Given the description of an element on the screen output the (x, y) to click on. 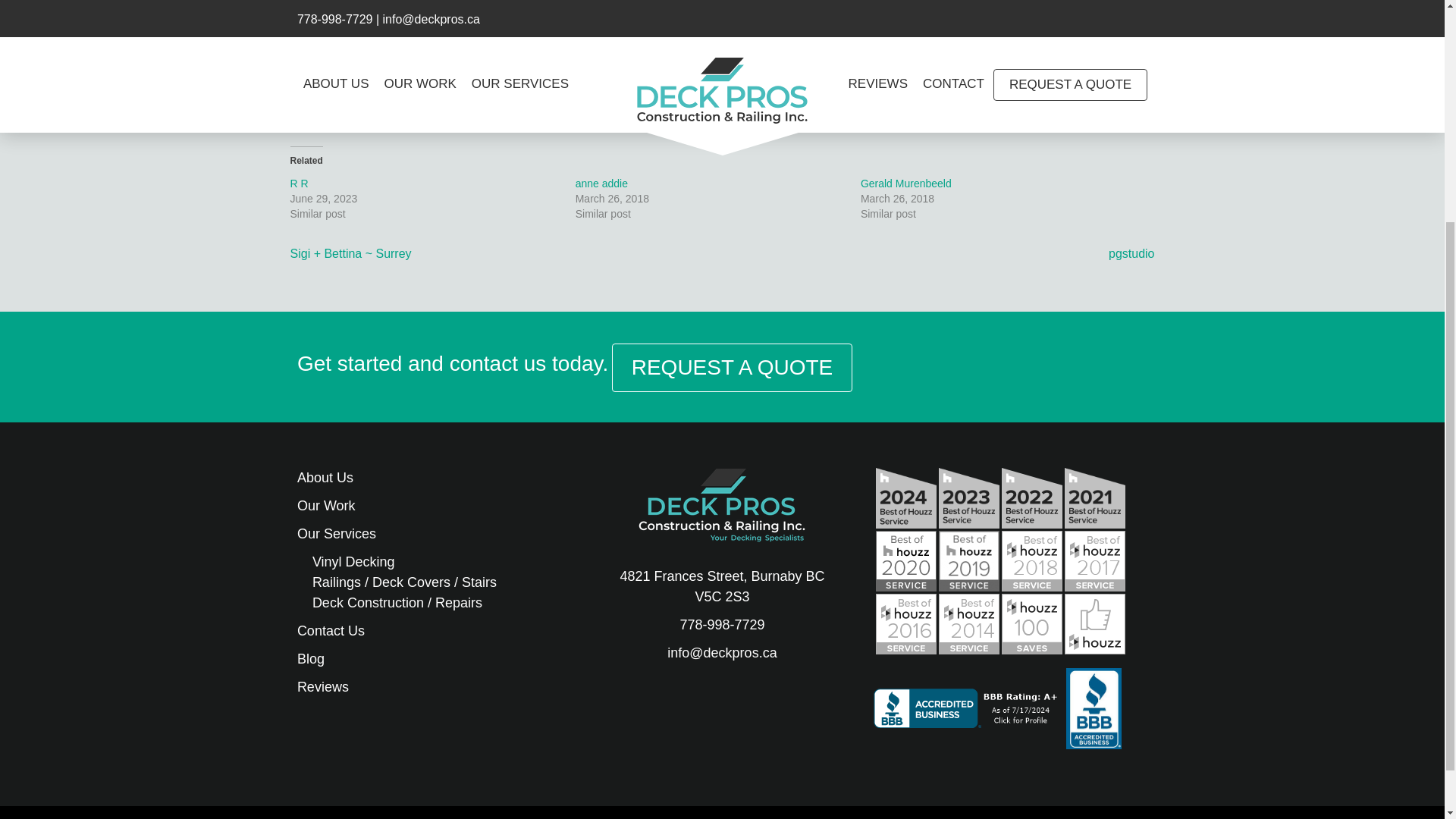
Our Work (326, 505)
REQUEST A QUOTE (732, 367)
Reviews (323, 686)
Gerald Murenbeeld (906, 183)
Vinyl Decking (353, 561)
Our Services (336, 533)
anne addie (601, 183)
R R (298, 183)
Contact Us (331, 630)
Gerald Murenbeeld (906, 183)
R R (298, 183)
anne addie (601, 183)
Blog (310, 658)
About Us (325, 477)
778-998-7729 (721, 624)
